Given the description of an element on the screen output the (x, y) to click on. 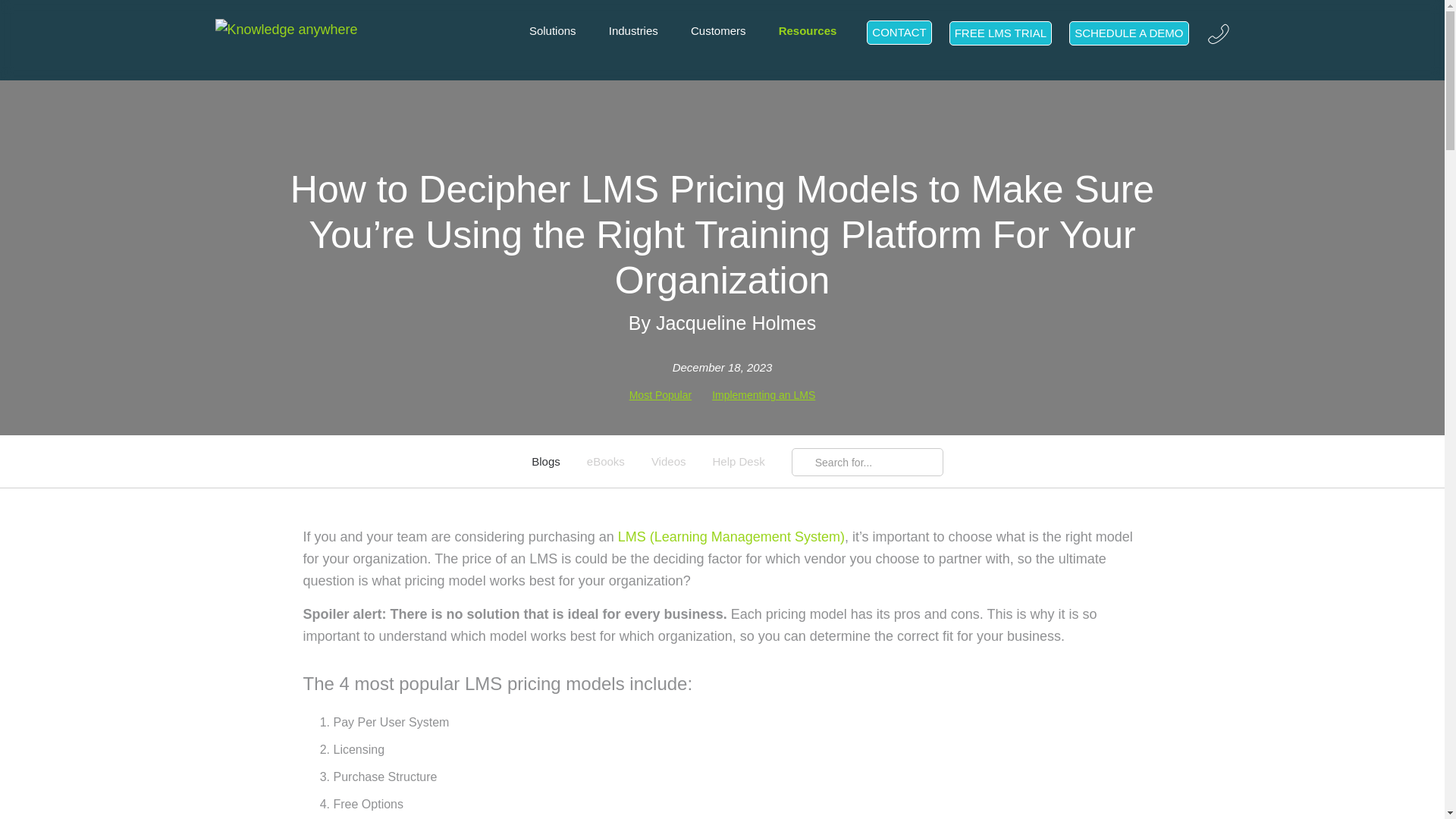
Customers (717, 30)
Resources (807, 30)
Solutions (552, 30)
Most Popular (659, 395)
SCHEDULE A DEMO (1128, 33)
FREE LMS TRIAL (1000, 33)
Videos (667, 461)
Implementing an LMS (763, 395)
CONTACT (898, 32)
Blogs (545, 461)
Help Desk (739, 461)
Industries (633, 30)
eBooks (605, 461)
